Given the description of an element on the screen output the (x, y) to click on. 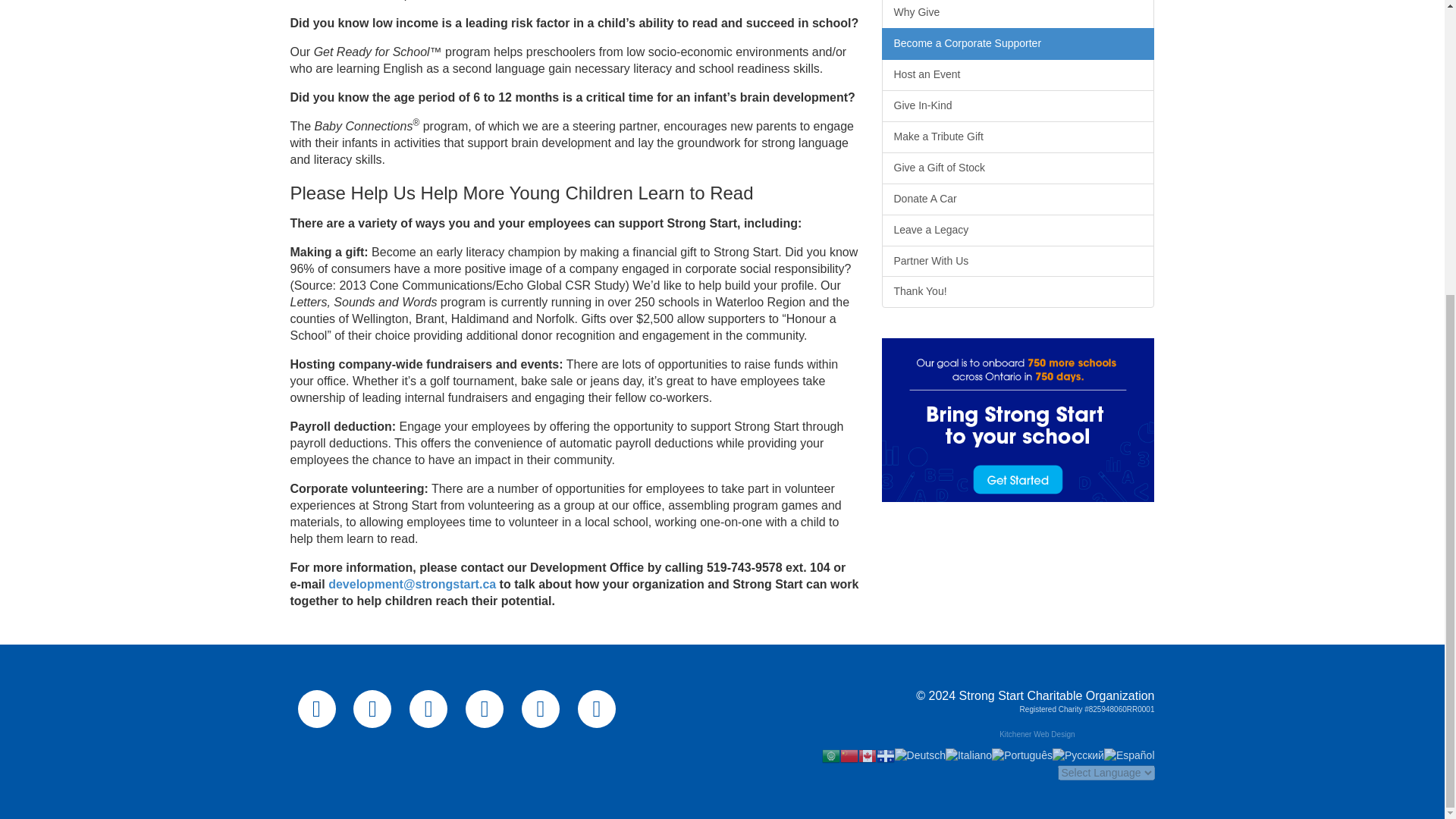
Donate A Car (1017, 199)
Youtube (484, 709)
email (596, 709)
Instagram (427, 709)
Why Give (1017, 14)
Leave a Legacy (1017, 230)
Deutsch (919, 754)
Give a Gift of Stock (1017, 168)
Become a Corporate Supporter (1017, 43)
Give In-Kind (1017, 106)
